Given the description of an element on the screen output the (x, y) to click on. 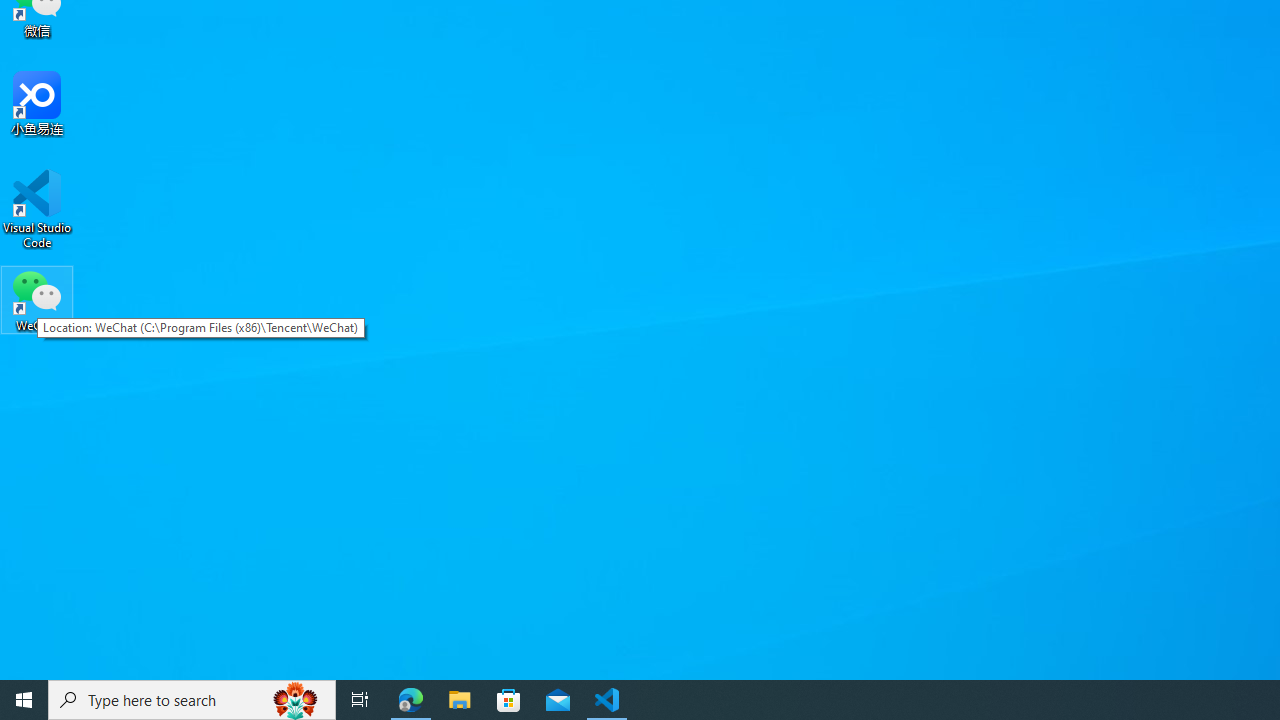
Visual Studio Code (37, 209)
WeChat (37, 299)
